Given the description of an element on the screen output the (x, y) to click on. 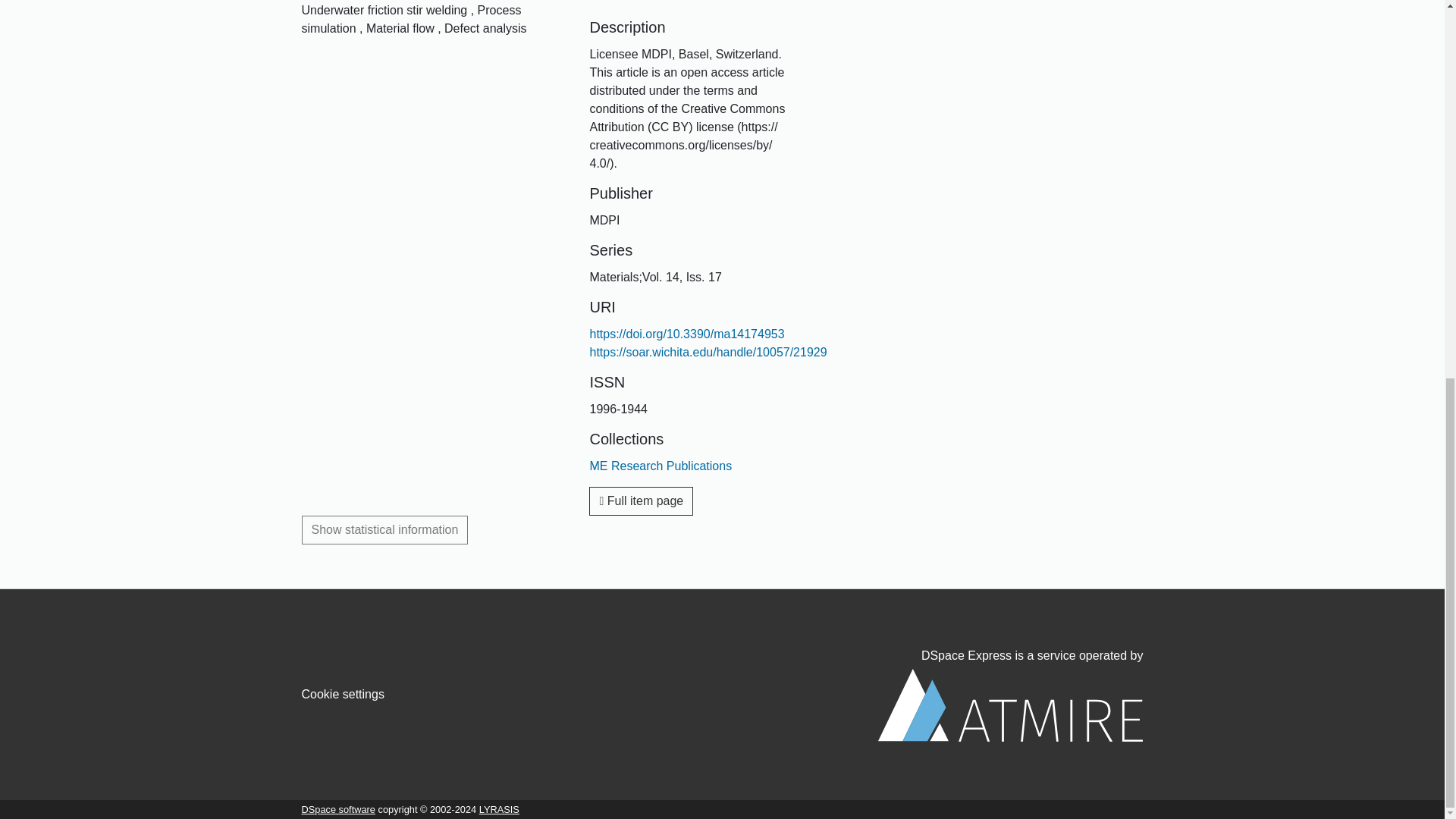
Full item page (641, 500)
ME Research Publications (660, 465)
LYRASIS (499, 808)
Show statistical information (384, 529)
Cookie settings (342, 694)
DSpace Express is a service operated by (1009, 695)
DSpace software (338, 808)
